Given the description of an element on the screen output the (x, y) to click on. 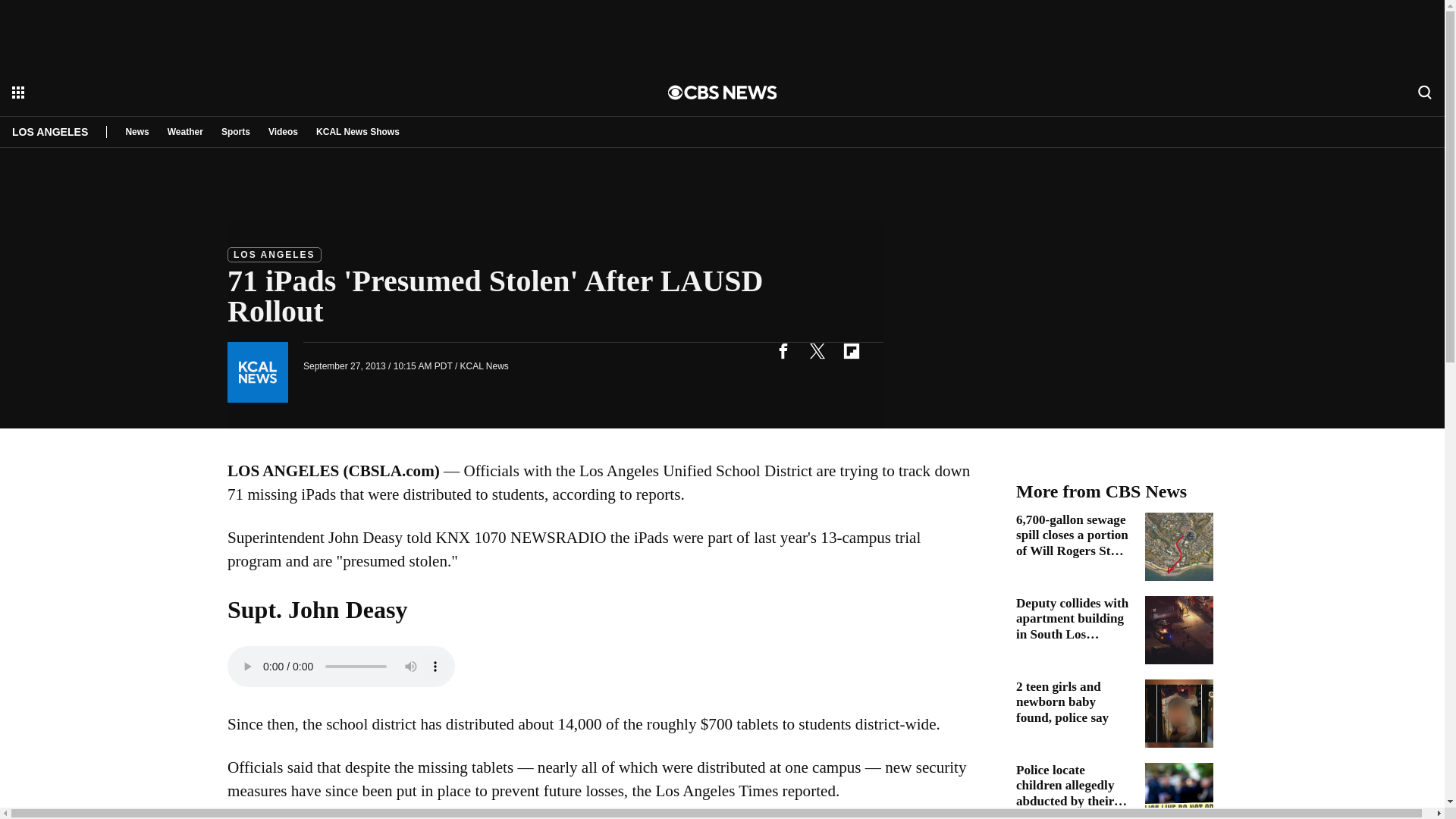
twitter (816, 350)
facebook (782, 350)
flipboard (850, 350)
